Given the description of an element on the screen output the (x, y) to click on. 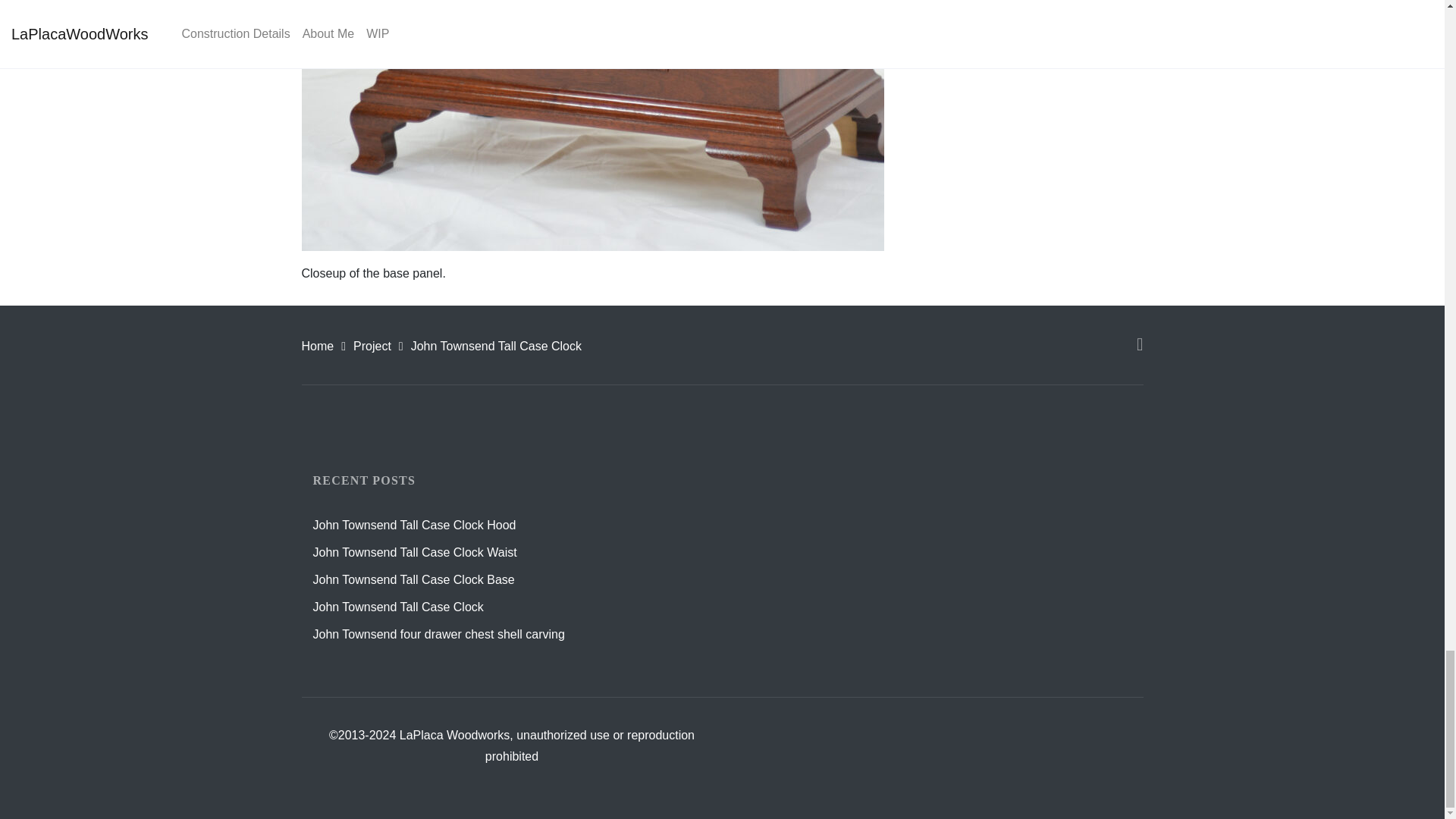
Home (317, 345)
John Townsend Tall Case Clock Base (413, 579)
John Townsend Tall Case Clock Hood (414, 524)
John Townsend Tall Case Clock Waist (414, 552)
John Townsend four drawer chest shell carving (438, 634)
Project (372, 345)
John Townsend Tall Case Clock (398, 606)
